Given the description of an element on the screen output the (x, y) to click on. 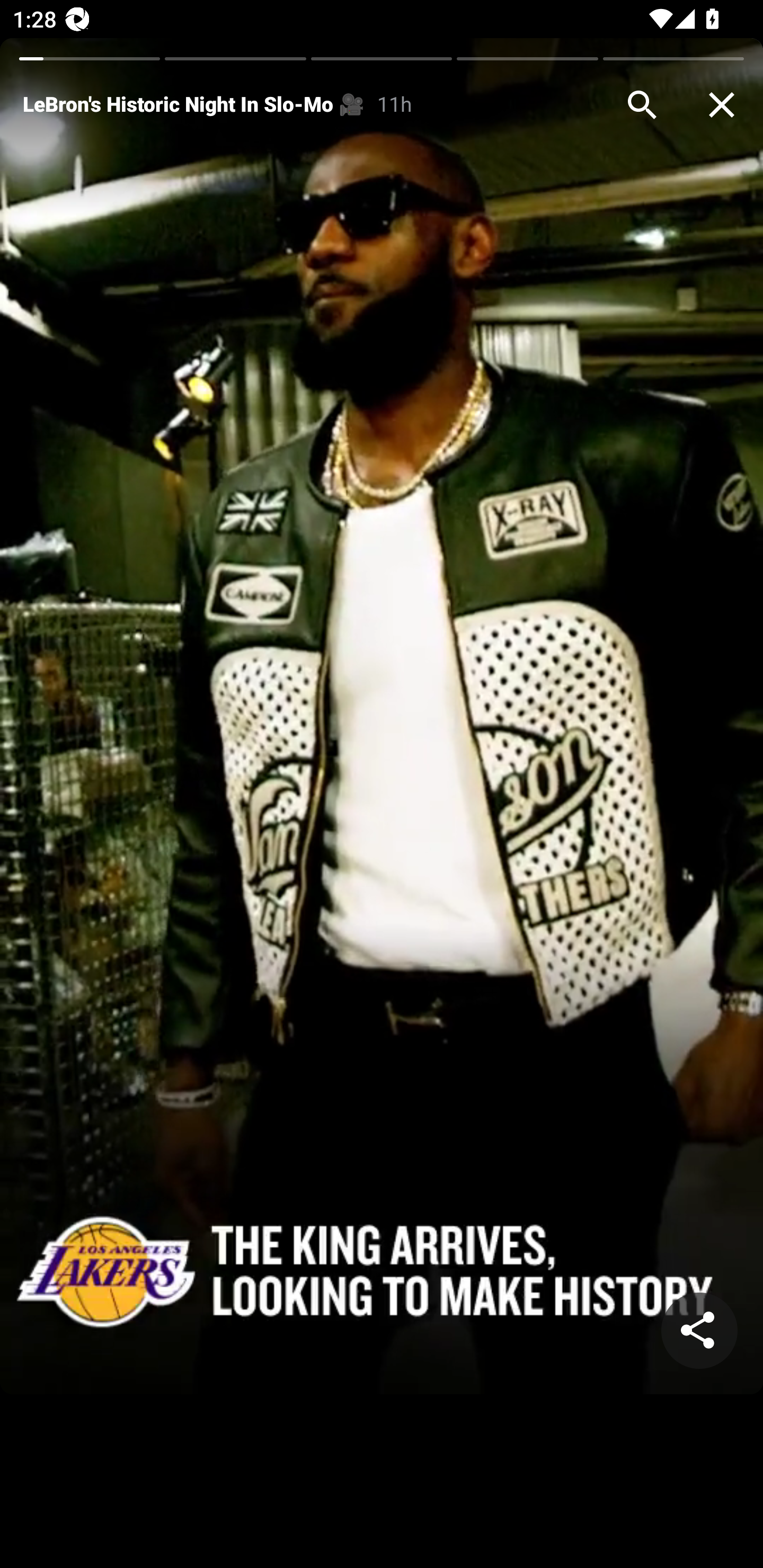
search (642, 104)
close (721, 104)
share (699, 1330)
